Given the description of an element on the screen output the (x, y) to click on. 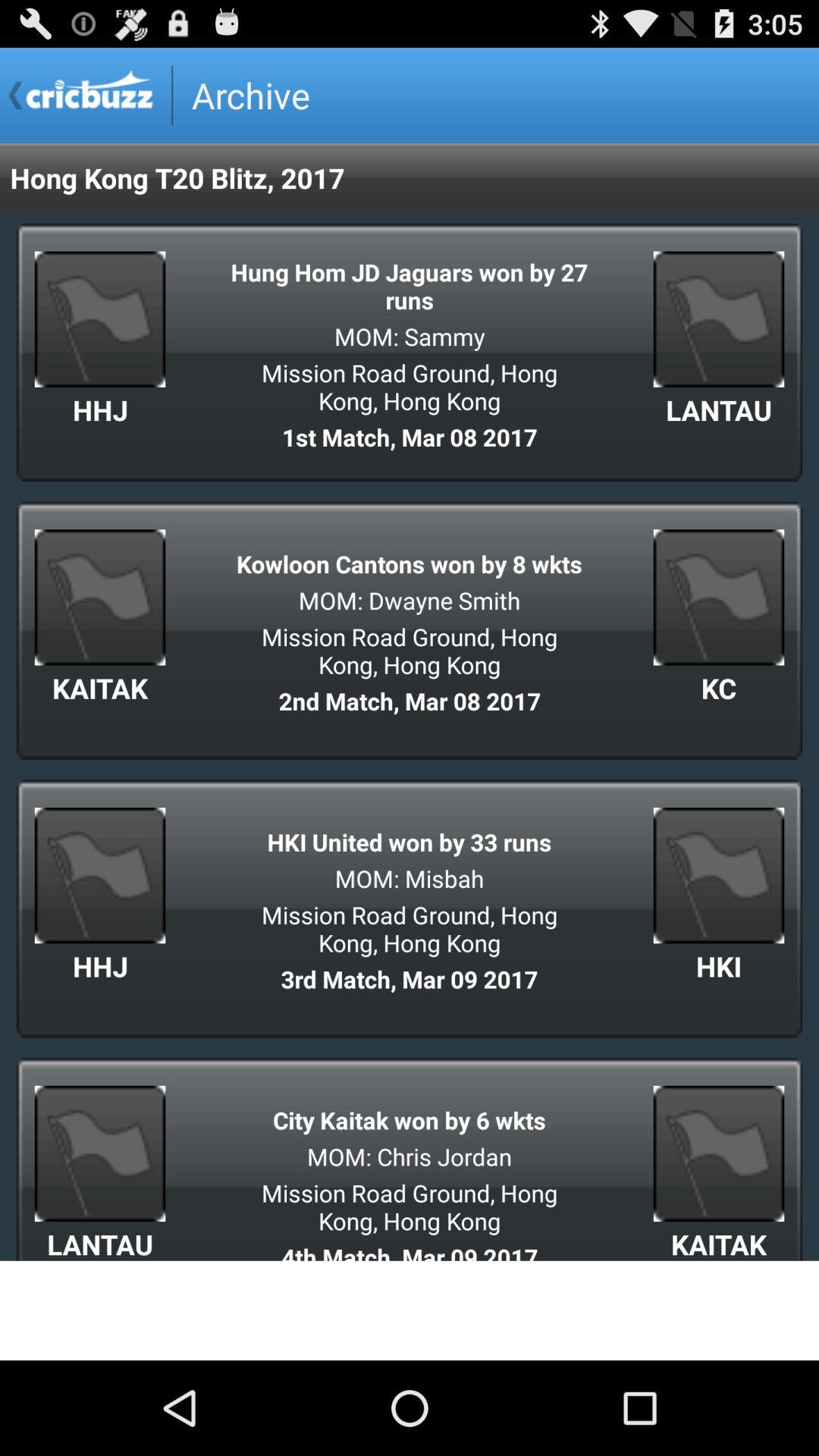
scroll until the hung hom jd (409, 285)
